Given the description of an element on the screen output the (x, y) to click on. 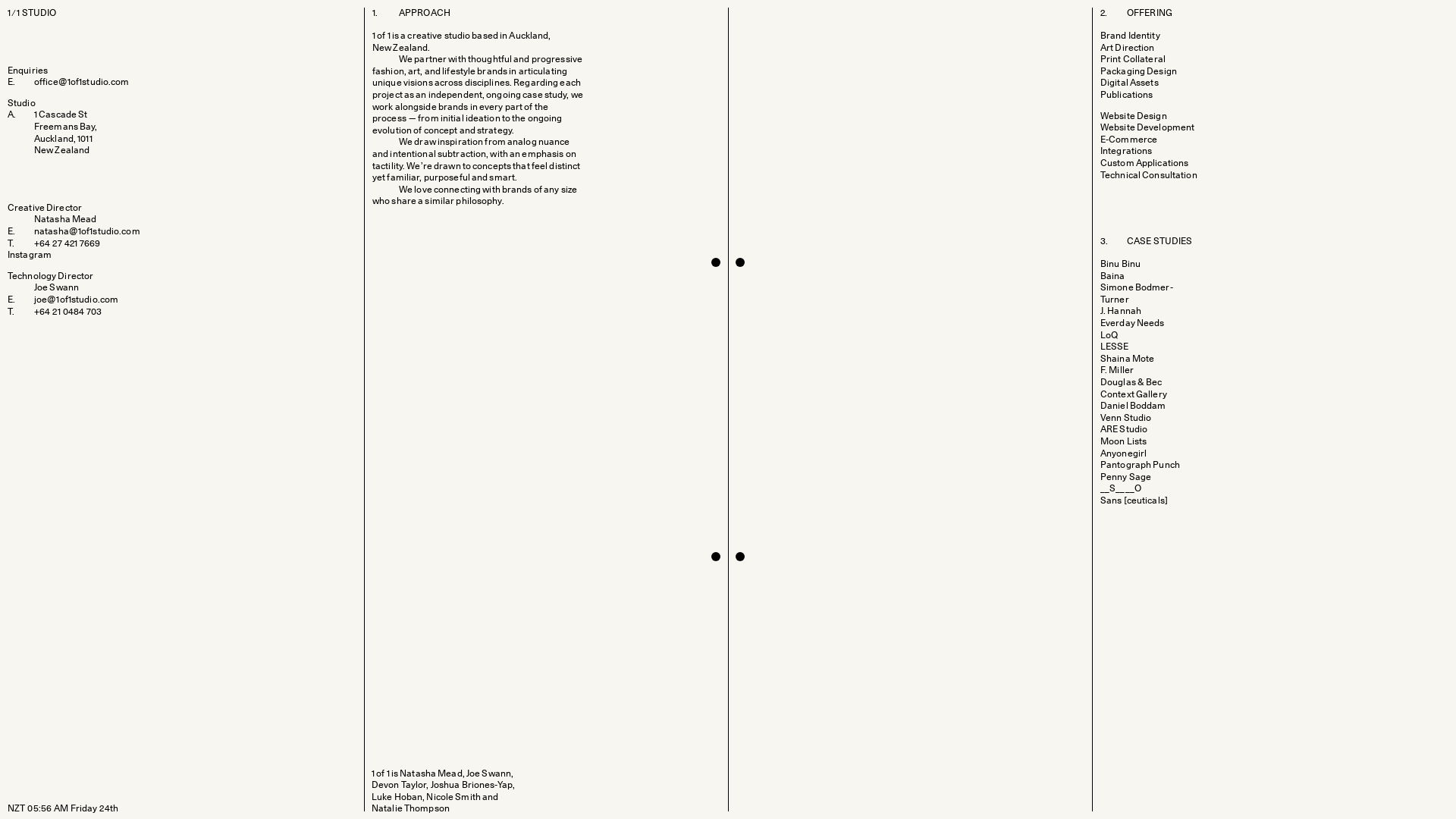
__S____O Element type: text (1130, 489)
Instagram Element type: text (29, 254)
ARE Studio Element type: text (1133, 429)
Anyonegirl Element type: text (1132, 454)
Venn Studio Element type: text (1135, 418)
Douglas & Bec Element type: text (1140, 382)
joe@1of1studio.com Element type: text (76, 299)
Everday Needs Element type: text (1141, 323)
F. Miller Element type: text (1126, 370)
Sans [ceuticals] Element type: text (1143, 501)
Context Gallery Element type: text (1143, 395)
Shaina Mote Element type: text (1136, 359)
J. Hannah Element type: text (1130, 311)
+64 27 421 7669 Element type: text (67, 242)
Daniel Boddam Element type: text (1142, 406)
Simone Bodmer-Turner Element type: text (1152, 293)
Pantograph Punch Element type: text (1149, 465)
+64 21 0484 703 Element type: text (68, 310)
Moon Lists Element type: text (1132, 442)
LESSE Element type: text (1124, 347)
Binu Binu Element type: text (1129, 264)
Baina Element type: text (1122, 276)
Penny Sage Element type: text (1135, 477)
natasha@1of1studio.com Element type: text (87, 230)
LoQ Element type: text (1118, 335)
office@1of1studio.com Element type: text (81, 81)
